Given the description of an element on the screen output the (x, y) to click on. 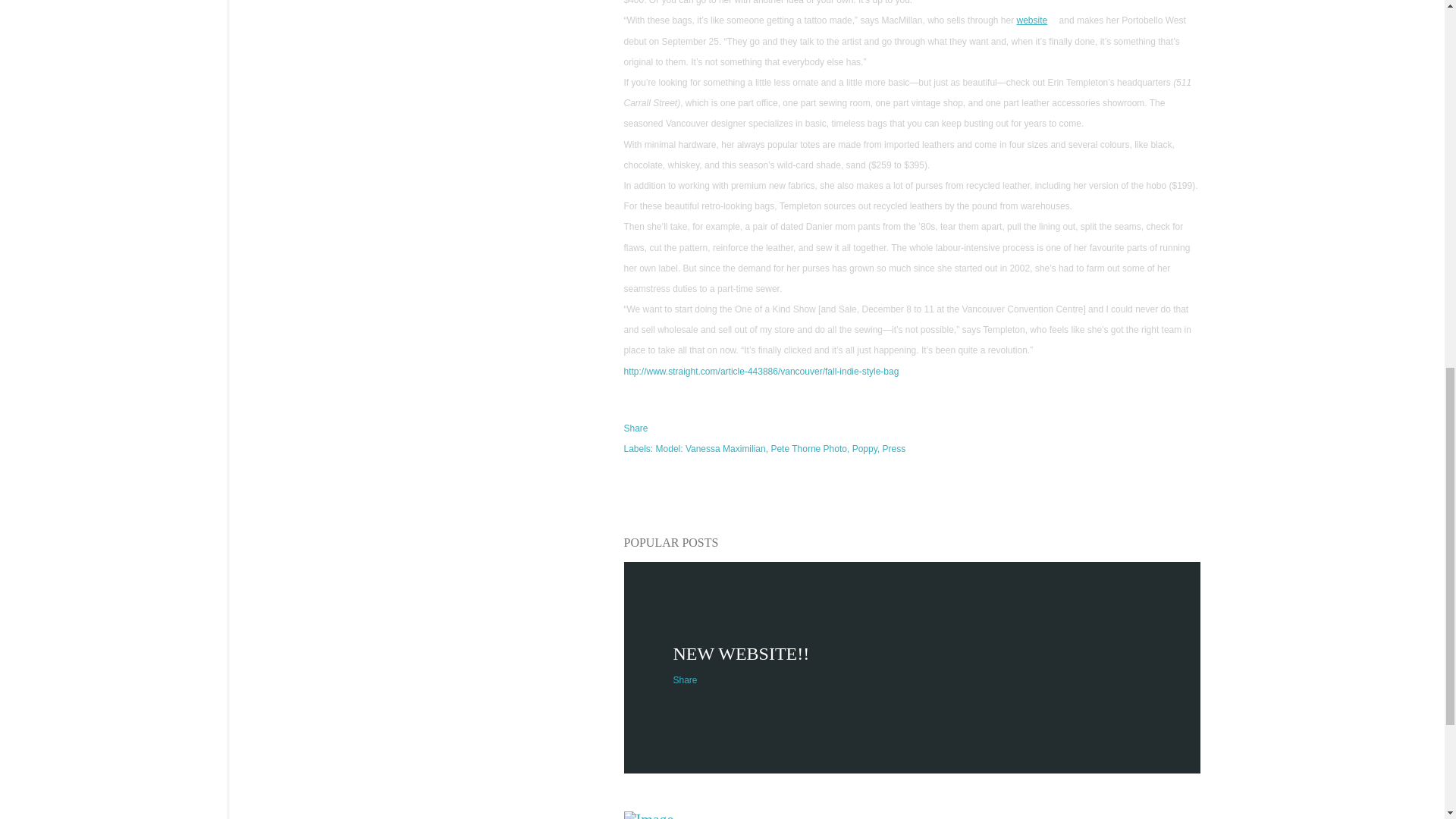
Press (893, 448)
Poppy (865, 448)
NEW WEBSITE!! (740, 653)
Model: Vanessa Maximilian (712, 448)
Pete Thorne Photo (809, 448)
website (1032, 20)
Share (684, 679)
Share (635, 428)
